Given the description of an element on the screen output the (x, y) to click on. 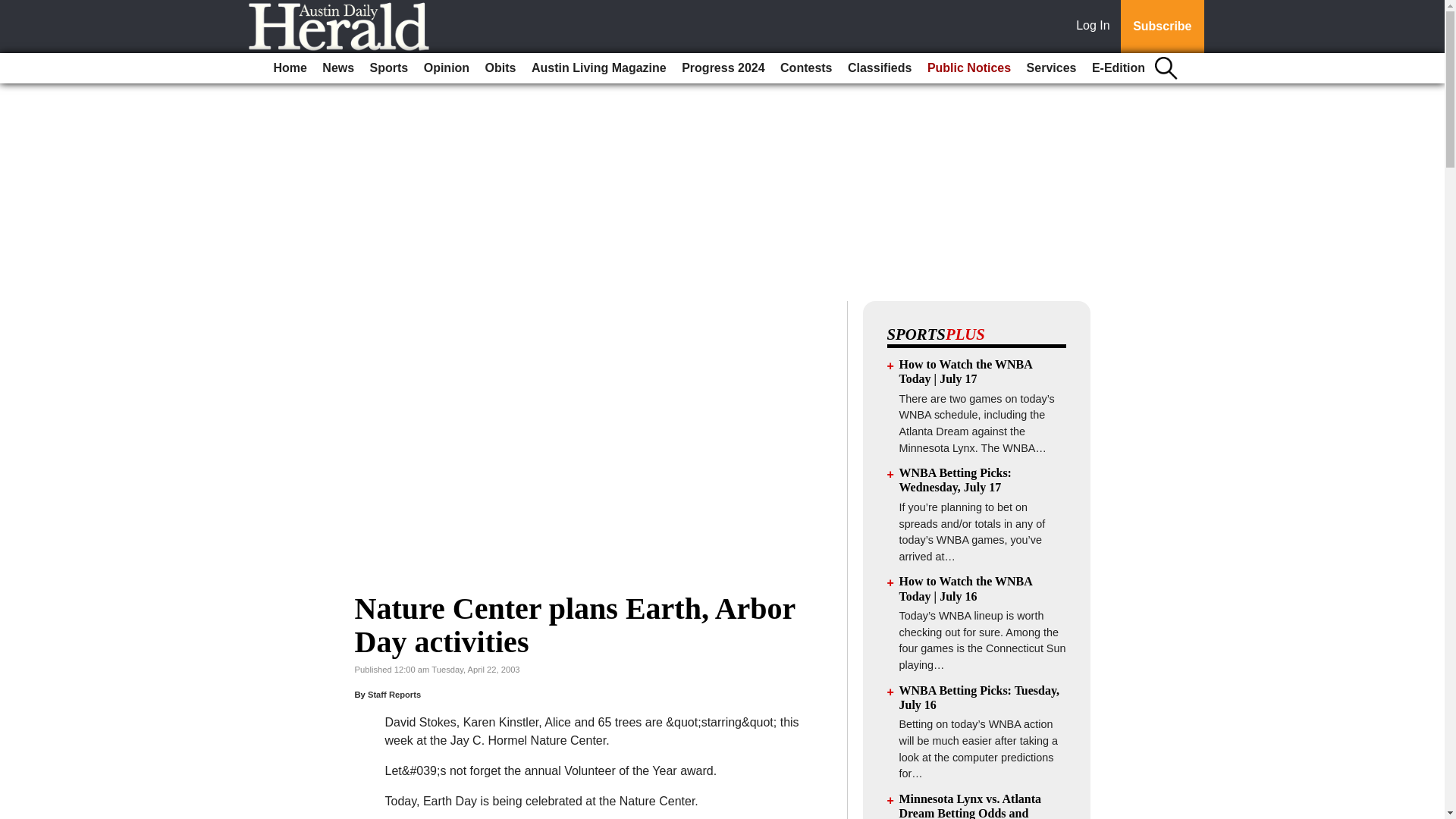
Home (289, 68)
Log In (1095, 26)
Obits (500, 68)
Contests (806, 68)
Austin Living Magazine (598, 68)
Services (1051, 68)
News (337, 68)
Sports (389, 68)
Public Notices (968, 68)
Classifieds (879, 68)
Opinion (446, 68)
Subscribe (1162, 26)
Progress 2024 (722, 68)
